Given the description of an element on the screen output the (x, y) to click on. 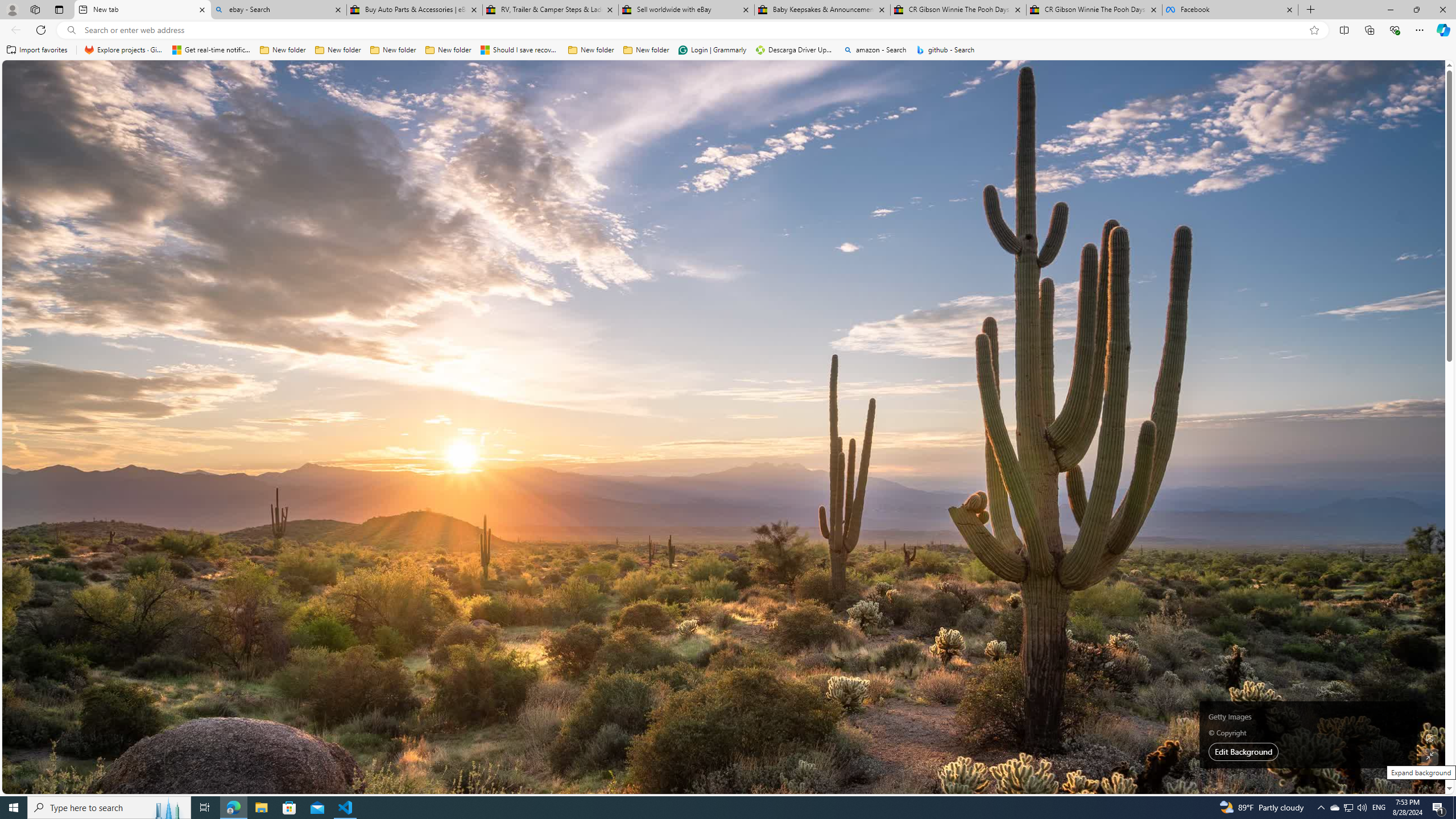
AutomationID: tab-18 (440, 328)
Change scenarios (1080, 718)
App launcher (27, 78)
tab-3 (1025, 509)
99 Like (652, 327)
AutomationID: tab-22 (458, 328)
Hide this story (774, 179)
AutomationID: tab-24 (467, 328)
